Given the description of an element on the screen output the (x, y) to click on. 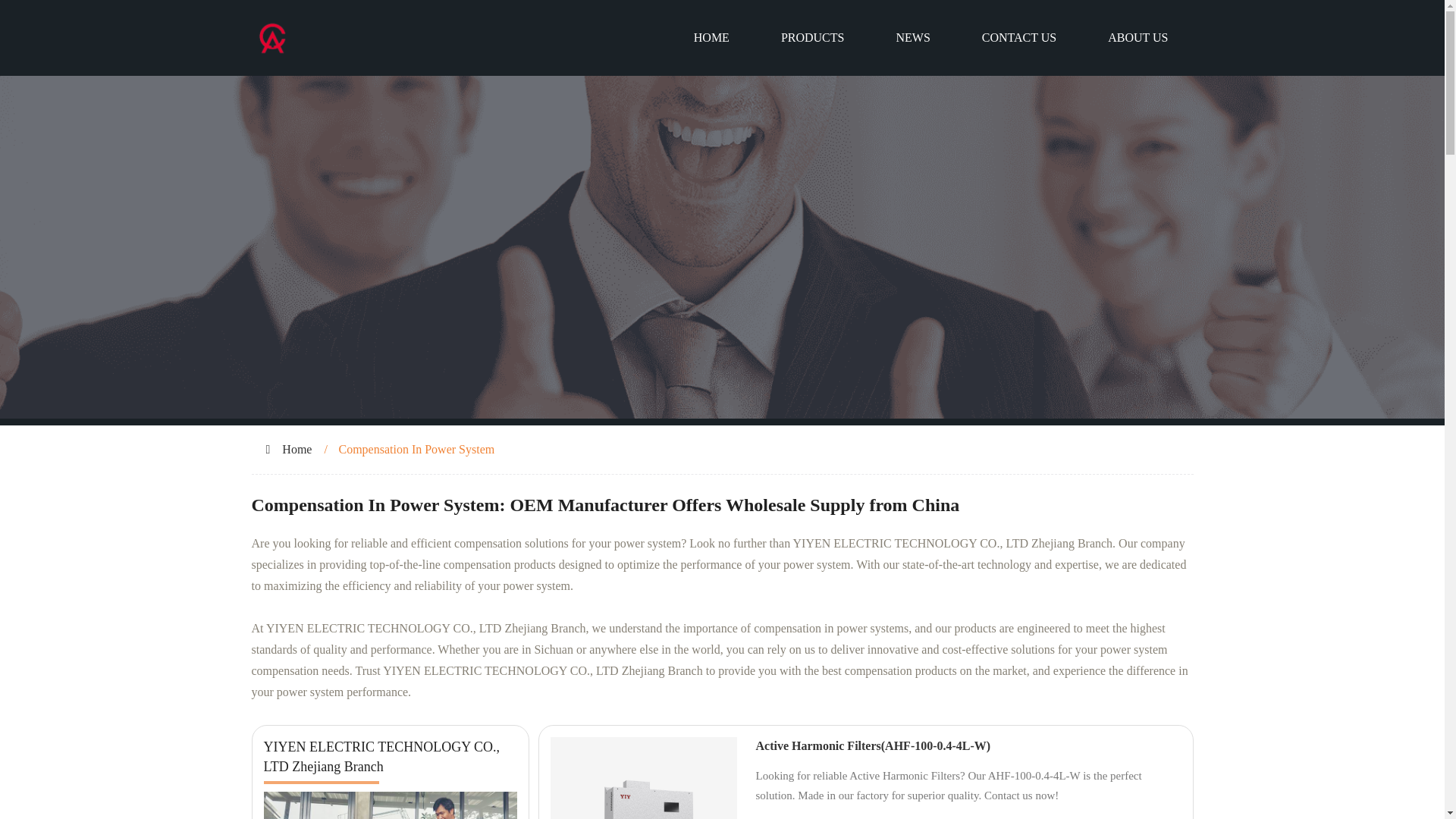
CONTACT US (1018, 38)
PRODUCTS (812, 38)
Home (296, 449)
